Given the description of an element on the screen output the (x, y) to click on. 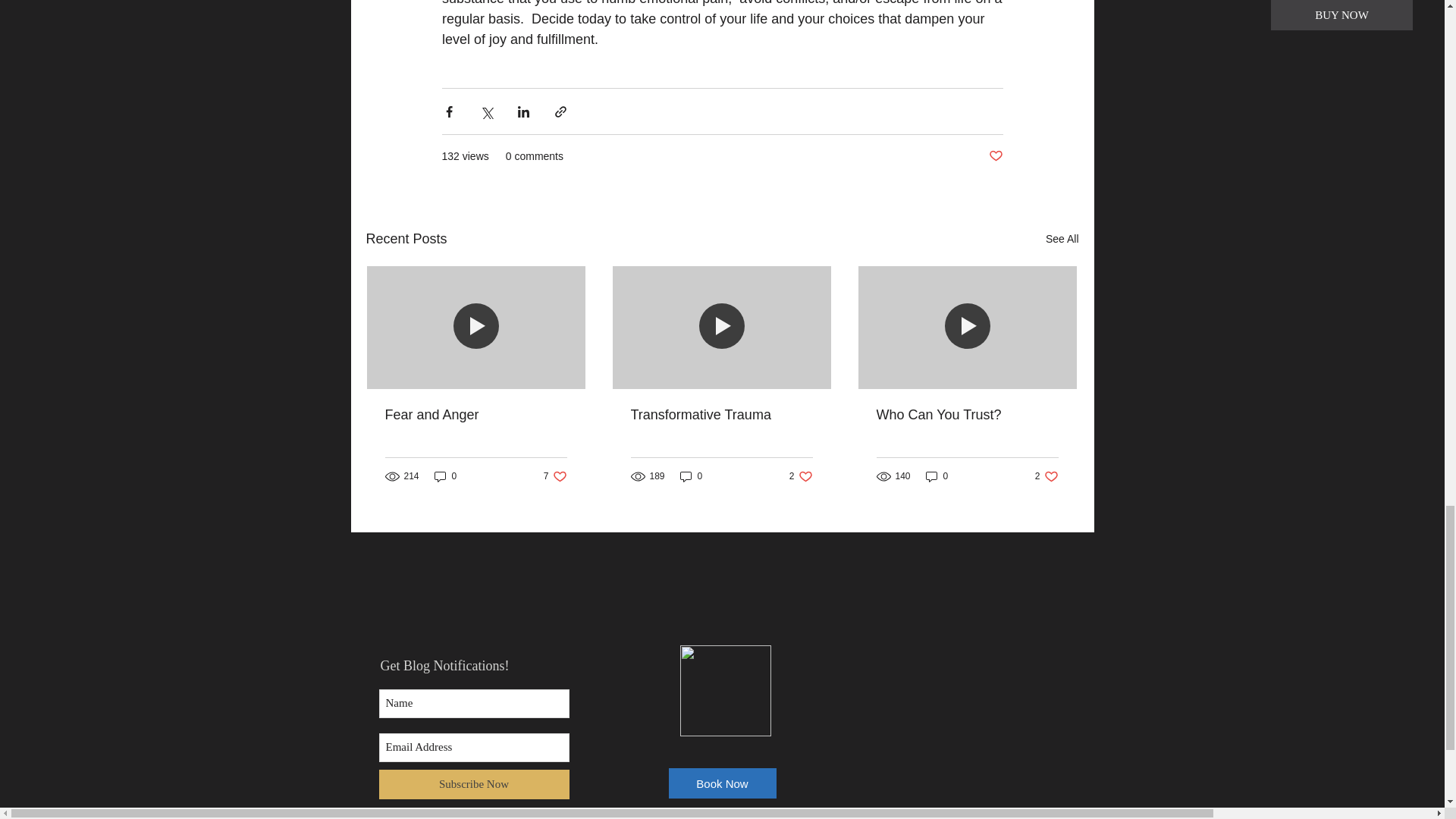
Fear and Anger (476, 415)
0 (937, 476)
Transformative Trauma (1046, 476)
Post not marked as liked (721, 415)
0 (995, 156)
Subscribe Now (445, 476)
Book Now (473, 784)
0 (800, 476)
See All (722, 783)
Who Can You Trust? (691, 476)
